Given the description of an element on the screen output the (x, y) to click on. 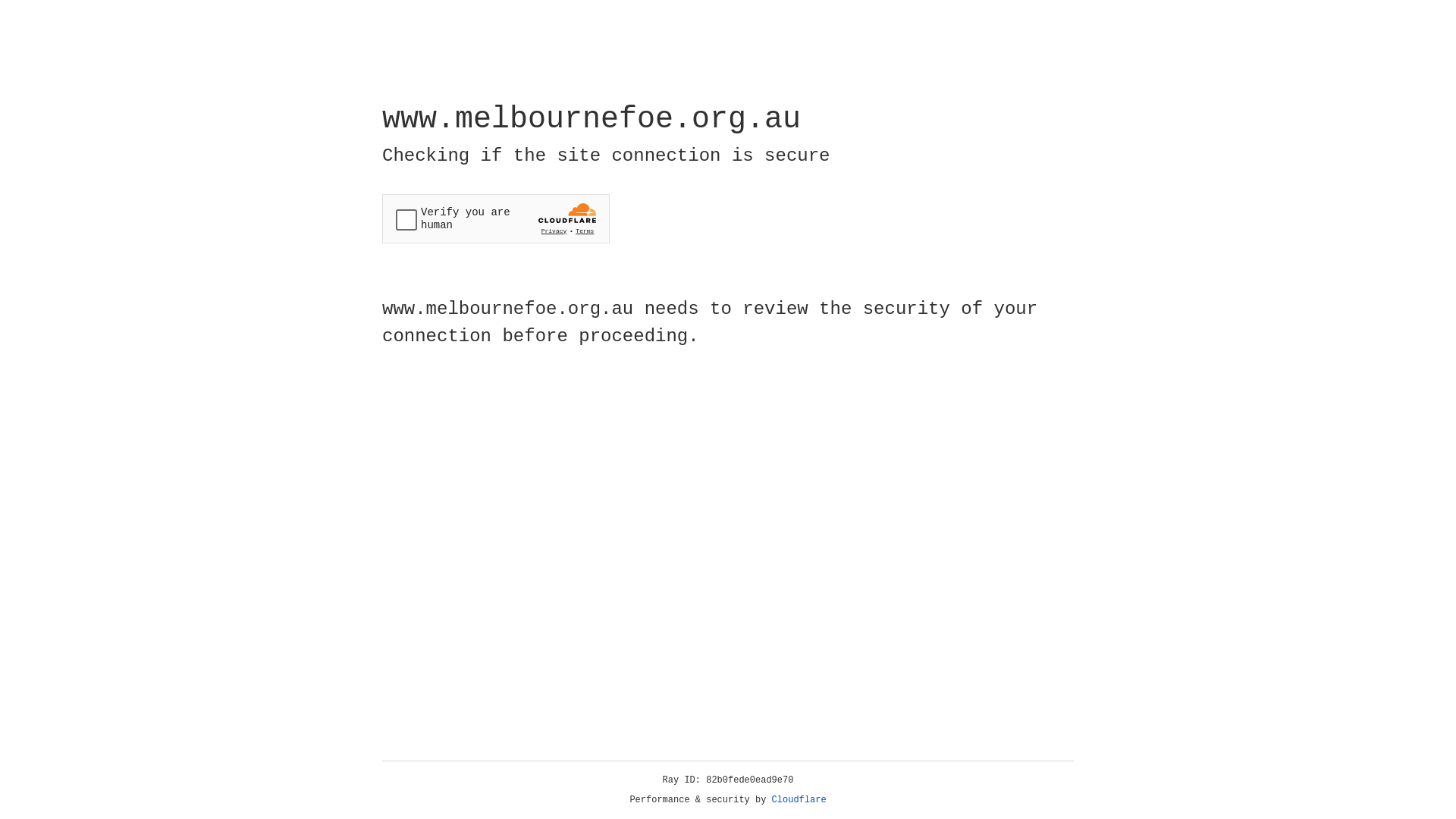
Cloudflare Element type: text (798, 799)
Widget containing a Cloudflare security challenge Element type: hover (495, 218)
